Given the description of an element on the screen output the (x, y) to click on. 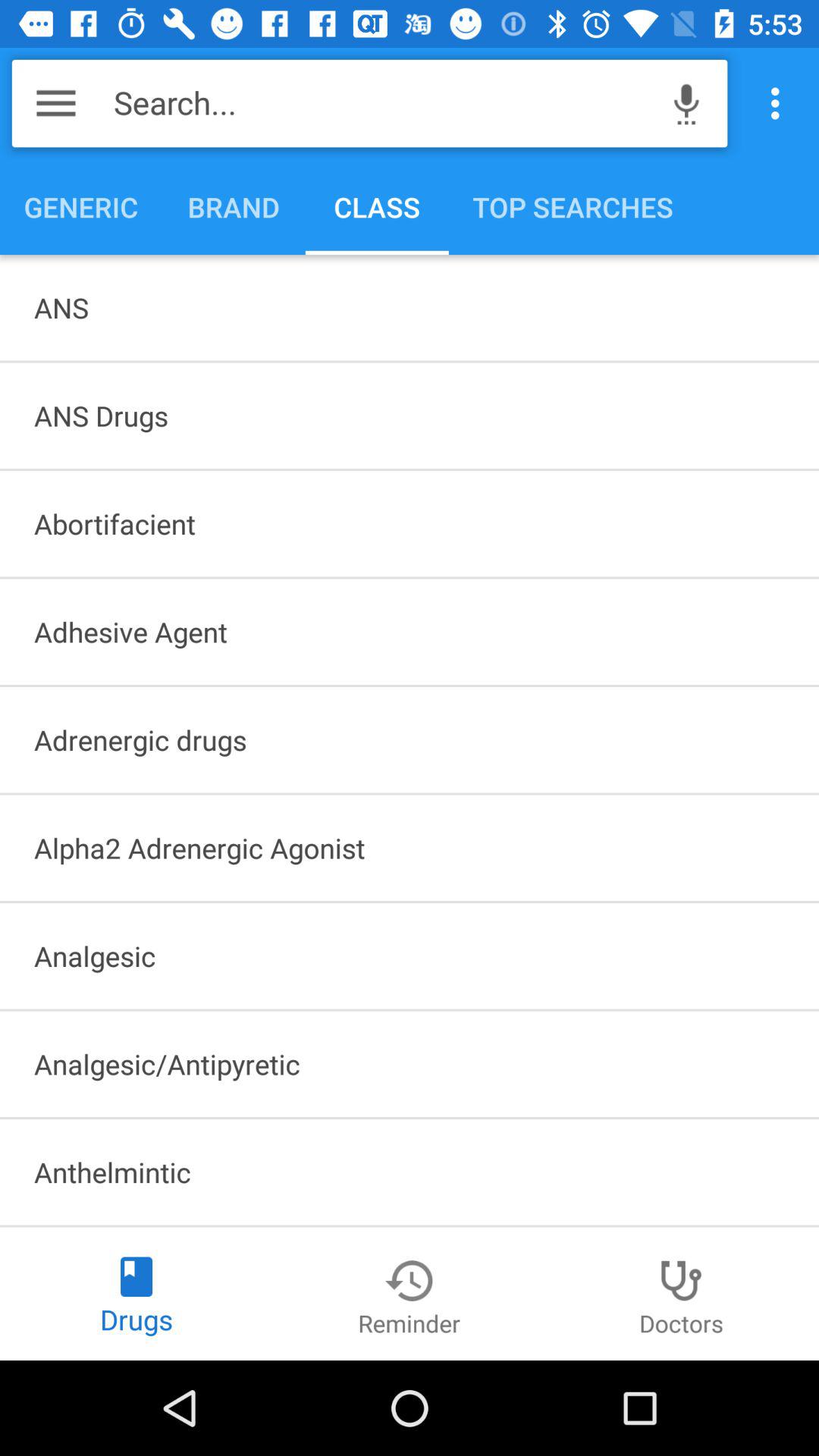
jump to the search... (383, 103)
